Given the description of an element on the screen output the (x, y) to click on. 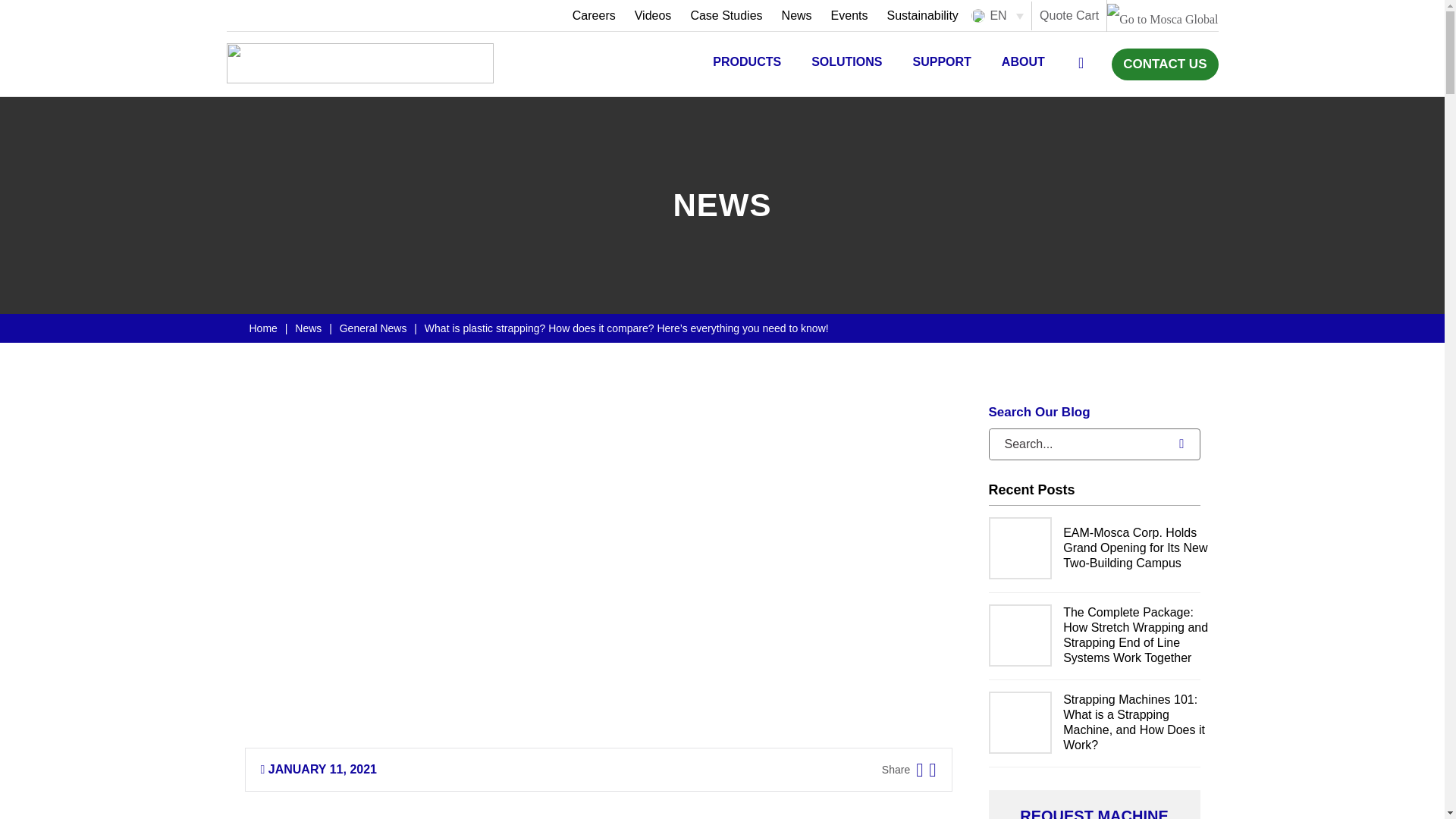
Search... (1075, 444)
Go to Mosca Global (1161, 19)
SOLUTIONS (846, 64)
PRODUCTS (746, 64)
News (796, 15)
Sustainability (918, 15)
Videos (653, 15)
Careers (593, 15)
Events (850, 15)
Search... (1075, 444)
EN (997, 15)
Case Studies (726, 15)
Quote Cart (1069, 15)
